Given the description of an element on the screen output the (x, y) to click on. 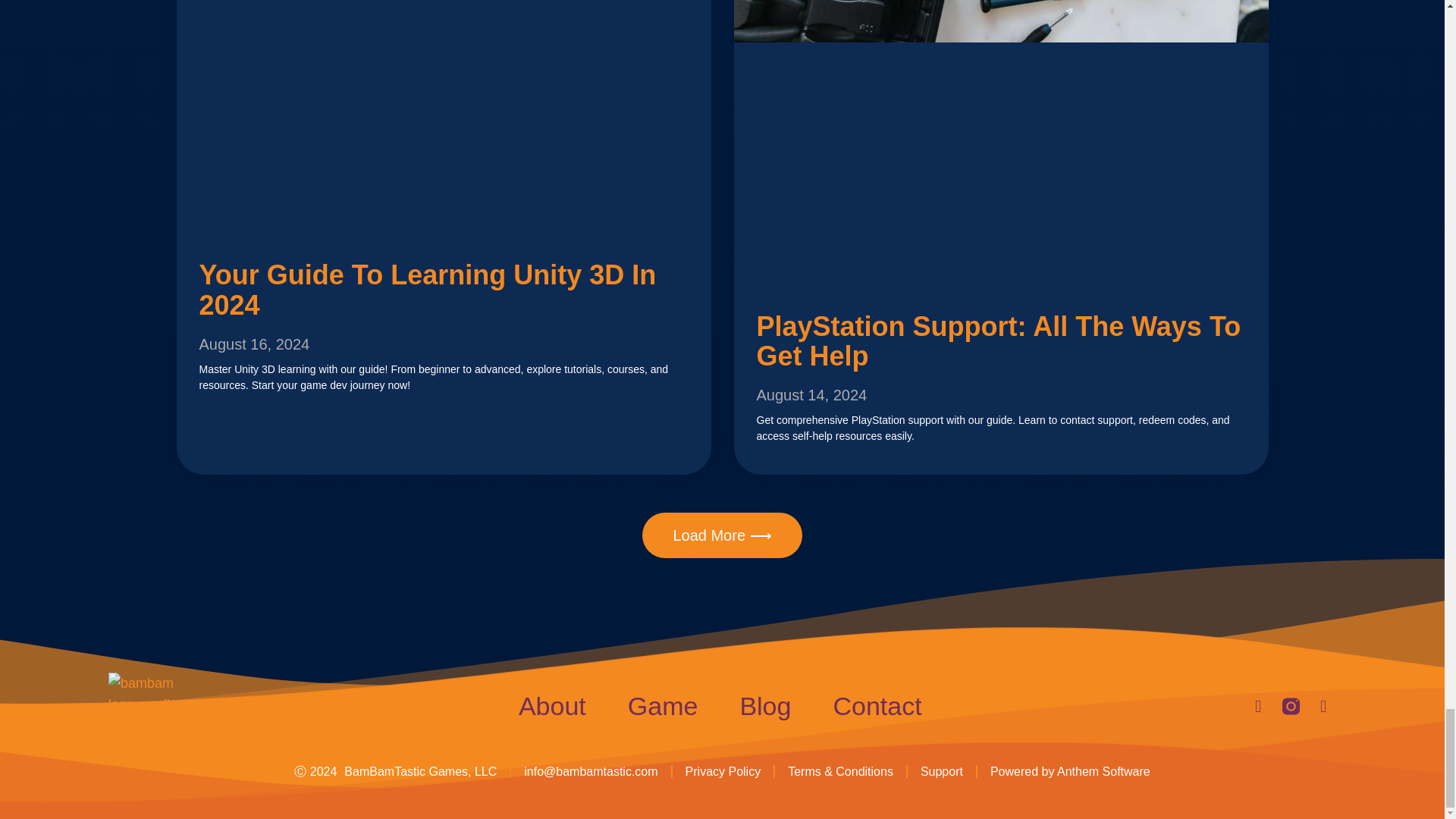
Game (662, 705)
Blog (764, 705)
PlayStation Support: All The Ways To Get Help (999, 341)
Contact (876, 705)
About (552, 705)
Your Guide To Learning Unity 3D In 2024 (427, 290)
